Given the description of an element on the screen output the (x, y) to click on. 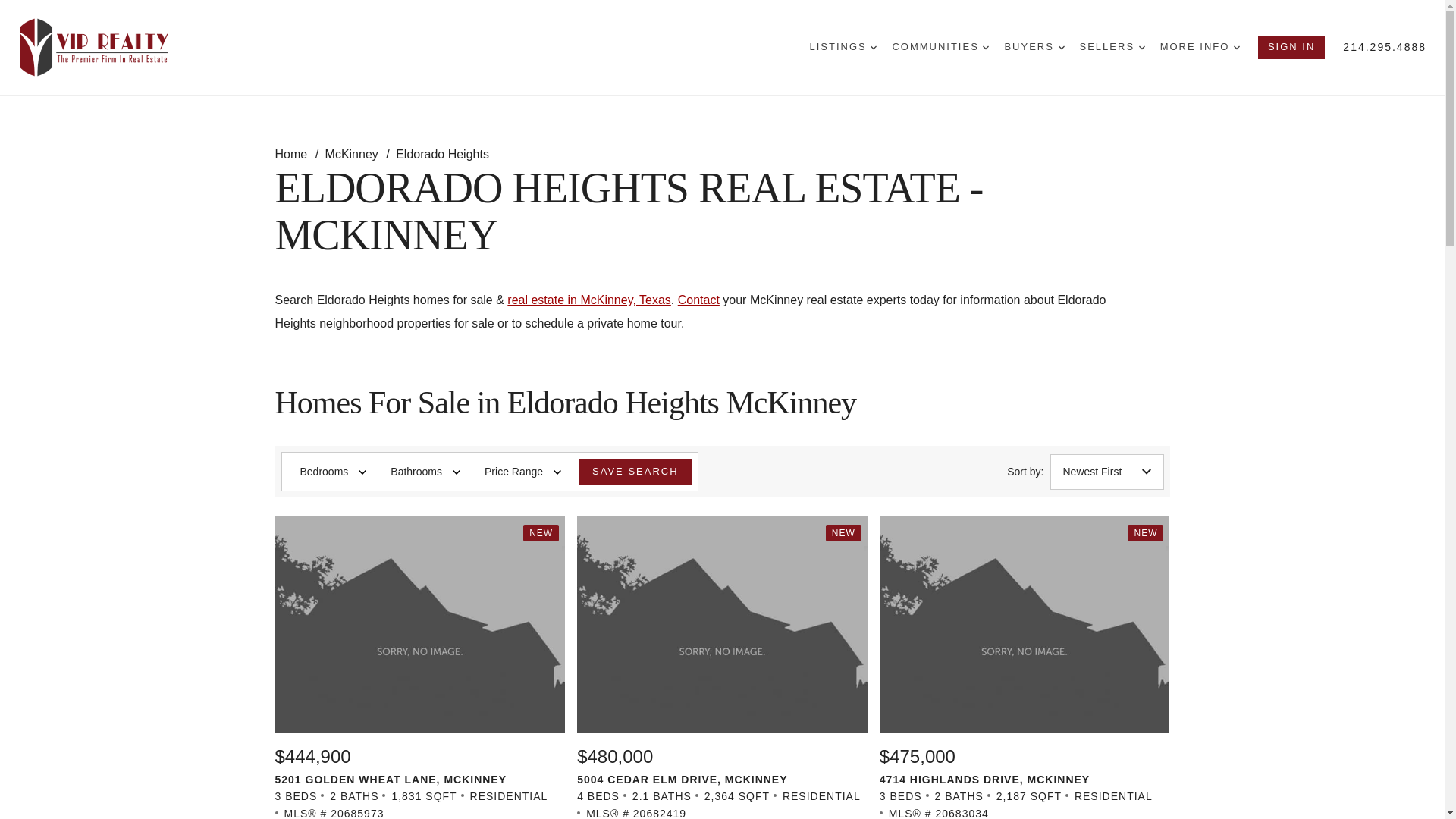
DROPDOWN ARROW (1061, 47)
COMMUNITIES DROPDOWN ARROW (939, 47)
DROPDOWN ARROW (873, 47)
LISTINGS DROPDOWN ARROW (843, 47)
MORE INFO DROPDOWN ARROW (1200, 47)
DROPDOWN ARROW (1141, 47)
DROPDOWN ARROW (985, 47)
DROPDOWN ARROW (1236, 47)
BUYERS DROPDOWN ARROW (1034, 47)
SELLERS DROPDOWN ARROW (1112, 47)
